Given the description of an element on the screen output the (x, y) to click on. 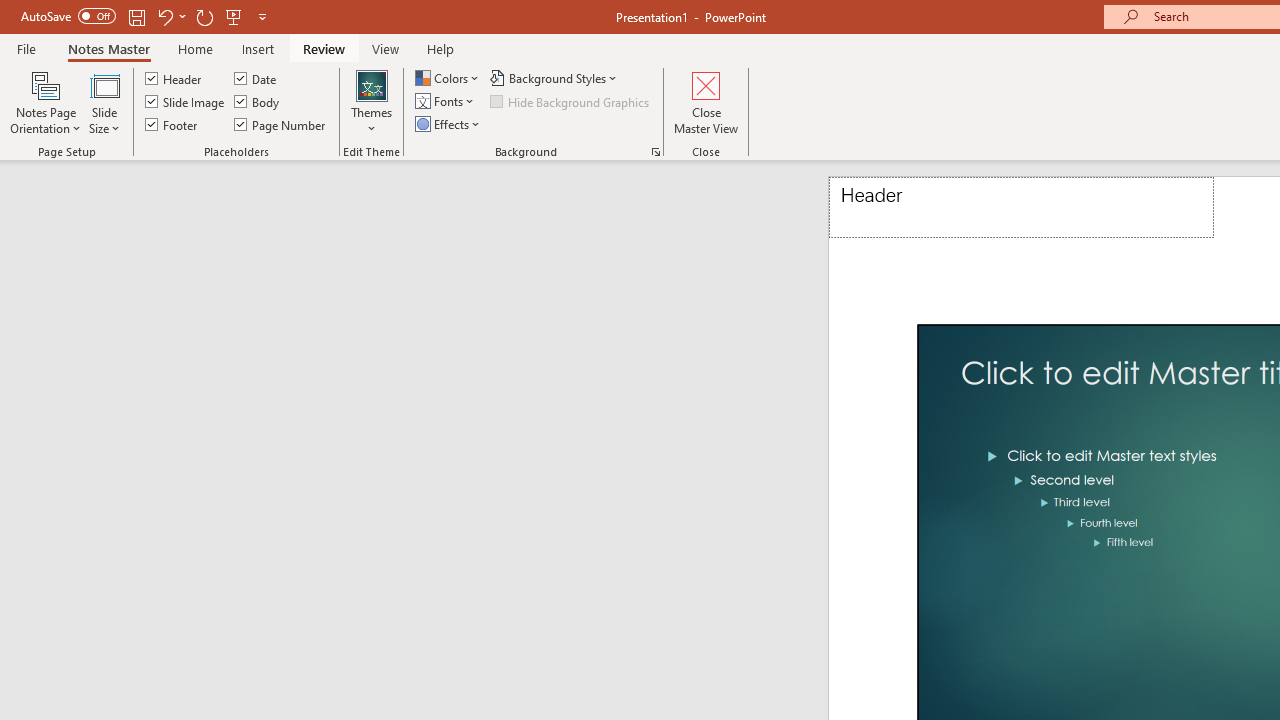
Notes Master (108, 48)
Notes Page Orientation (45, 102)
Slide Size (104, 102)
Colors (449, 78)
Hide Background Graphics (570, 101)
